Given the description of an element on the screen output the (x, y) to click on. 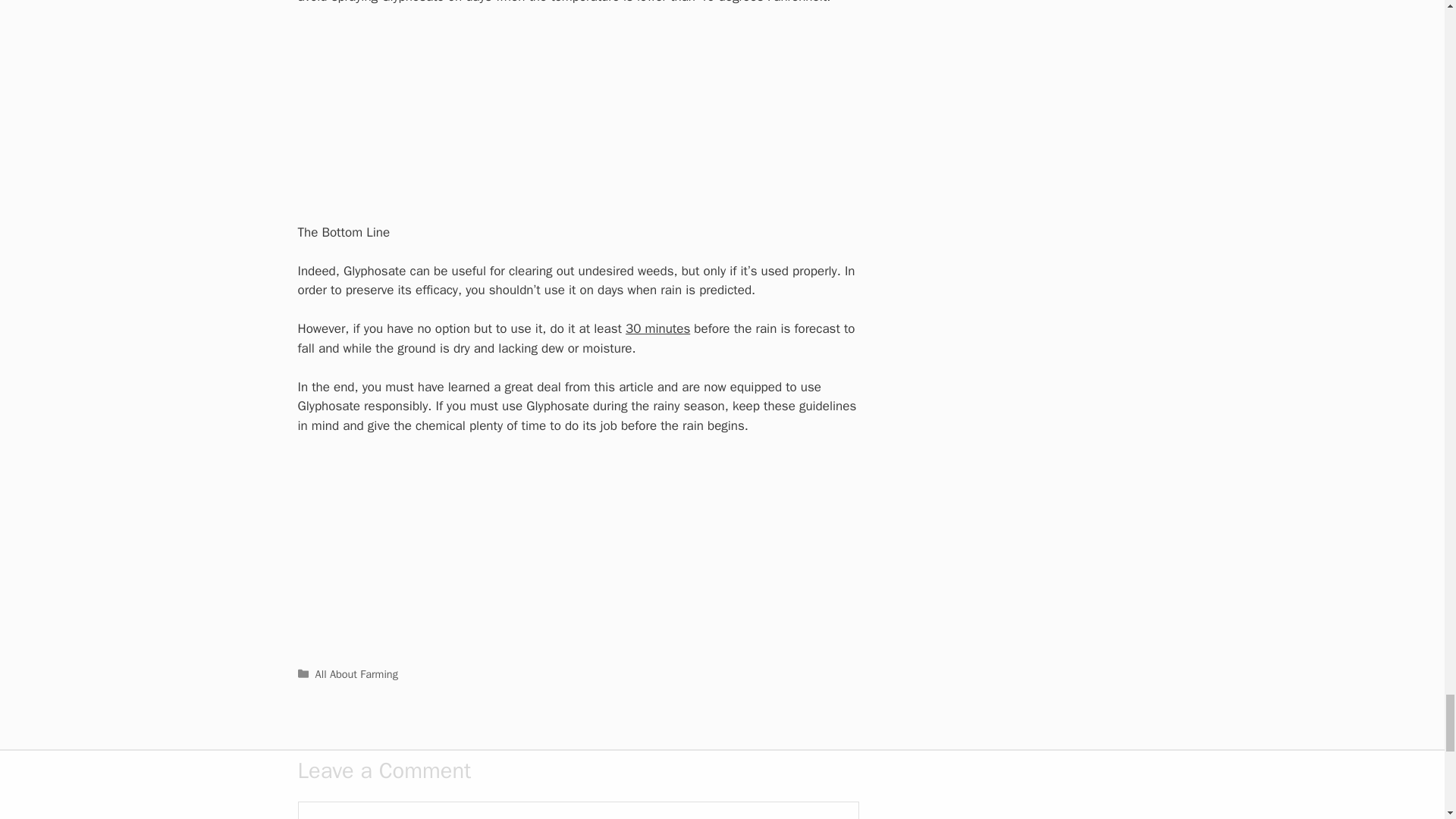
All About Farming (356, 673)
